Given the description of an element on the screen output the (x, y) to click on. 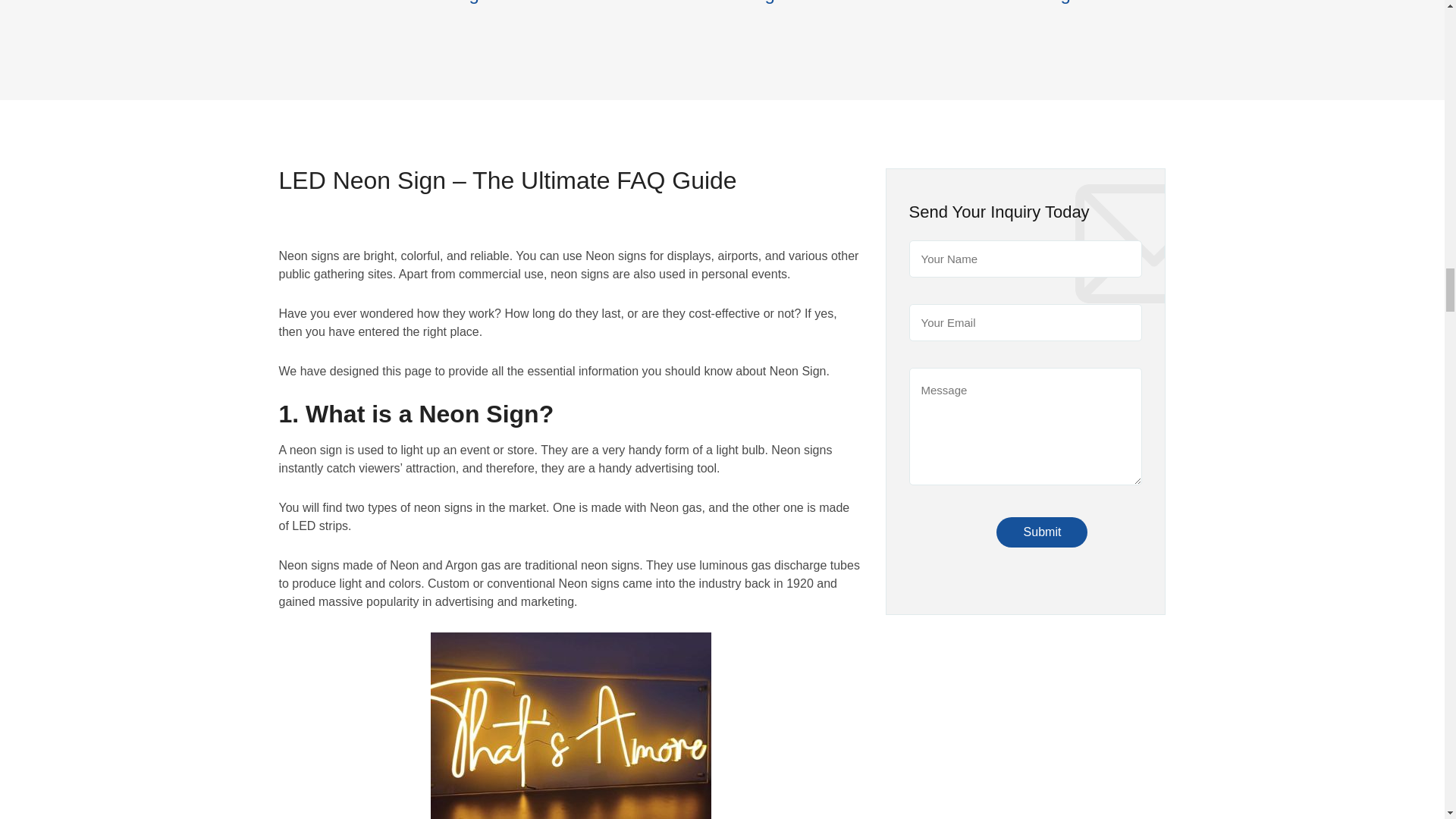
Submit (1041, 531)
